Given the description of an element on the screen output the (x, y) to click on. 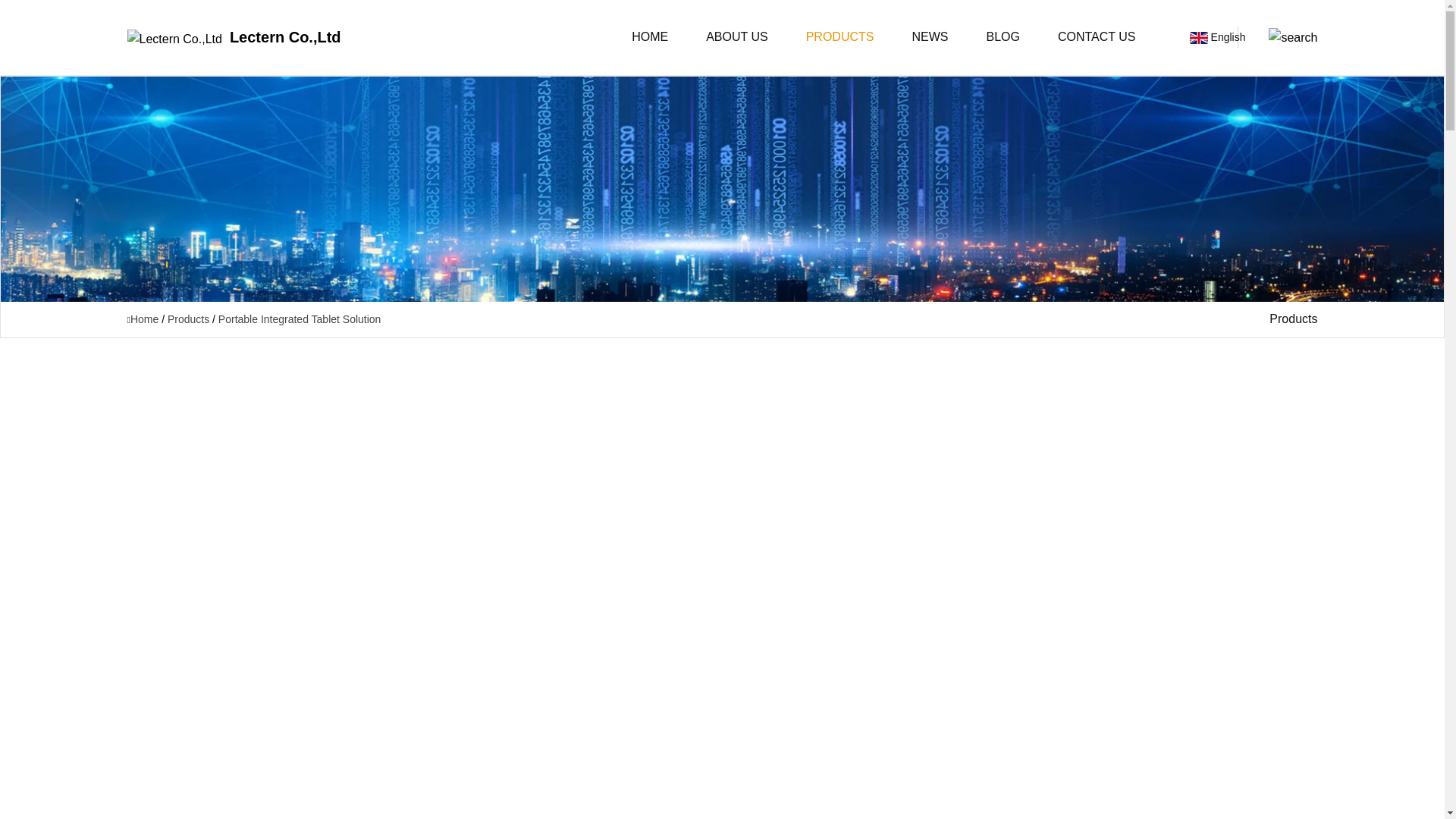
CONTACT US (1096, 37)
Lectern Co.,Ltd (234, 37)
Lectern Co.,Ltd (234, 37)
ABOUT US (736, 37)
Products (188, 318)
Portable Integrated Tablet Solution (299, 318)
PRODUCTS (839, 37)
Home (144, 318)
